Given the description of an element on the screen output the (x, y) to click on. 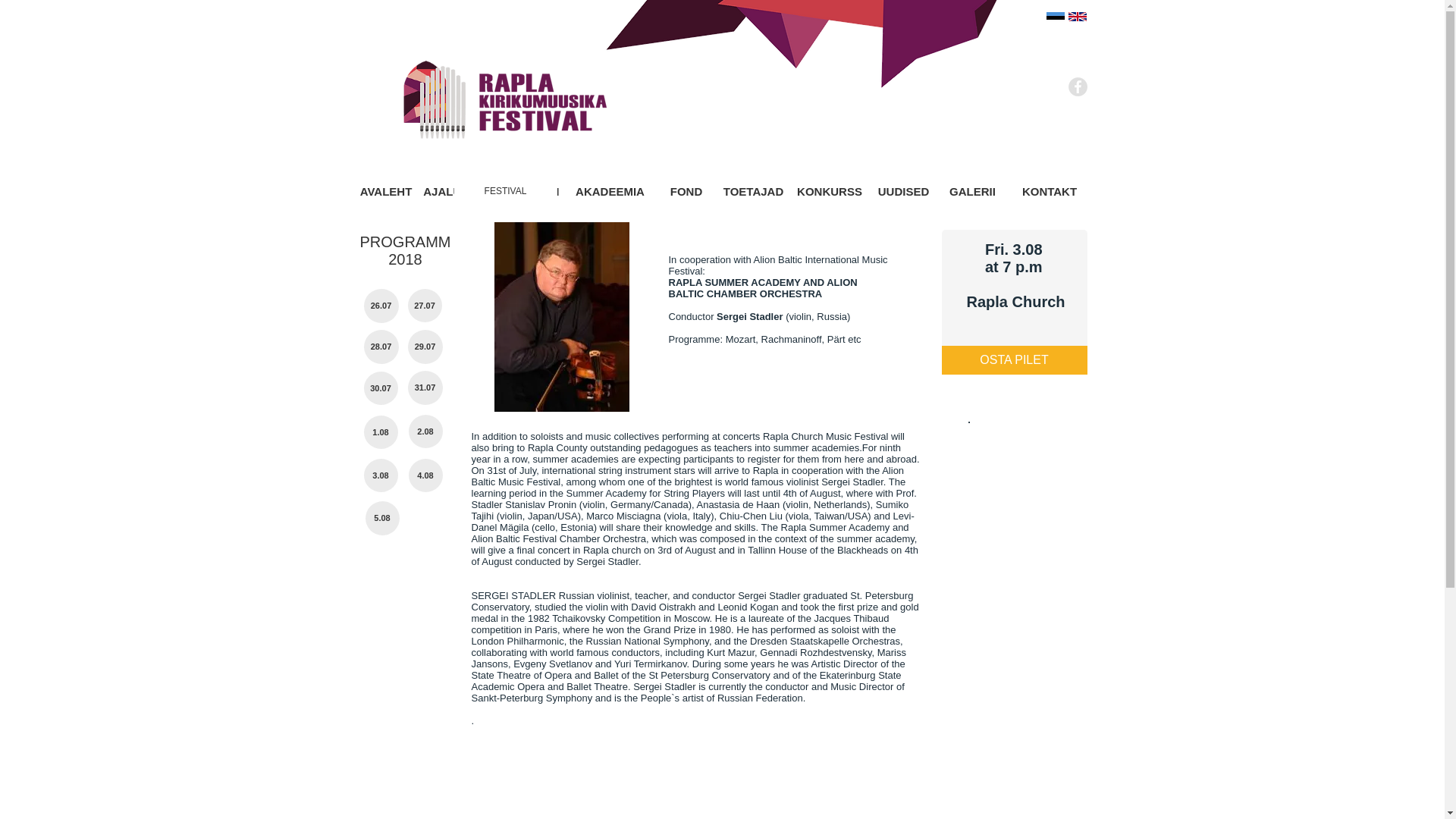
4.08 (424, 475)
26.07 (381, 305)
29.07 (424, 346)
OSTA PILET (1014, 359)
GALERII (973, 191)
27.07 (424, 305)
3.08 (380, 475)
31.07 (424, 387)
KONKURSS (829, 191)
PROGRAMM (523, 191)
1.08 (380, 431)
AJALUGU (449, 191)
FESTIVAL (504, 191)
KONTAKT (1049, 191)
AVALEHT (386, 191)
